Given the description of an element on the screen output the (x, y) to click on. 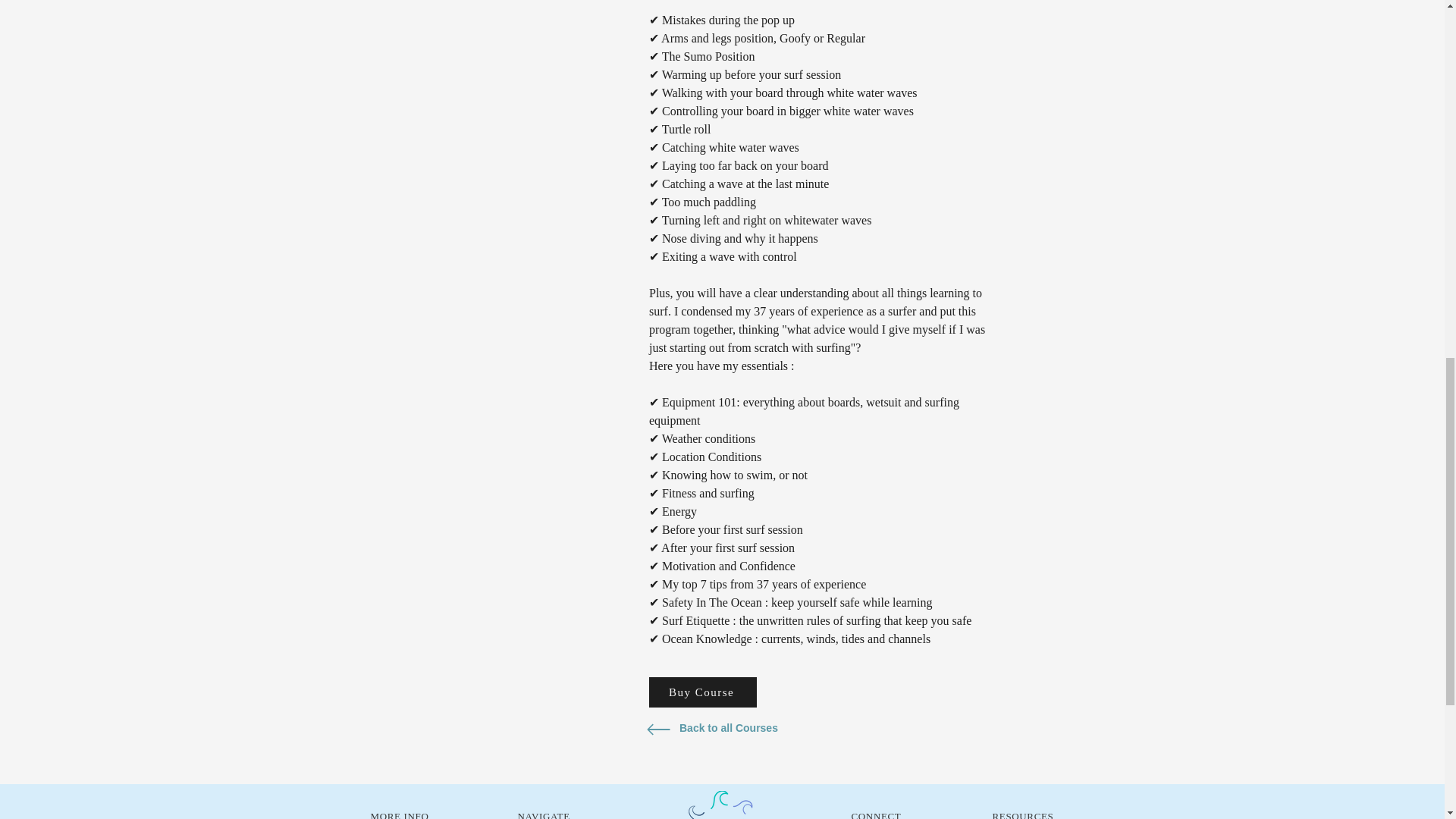
Back to all Courses (731, 728)
Buy Course (703, 692)
